Given the description of an element on the screen output the (x, y) to click on. 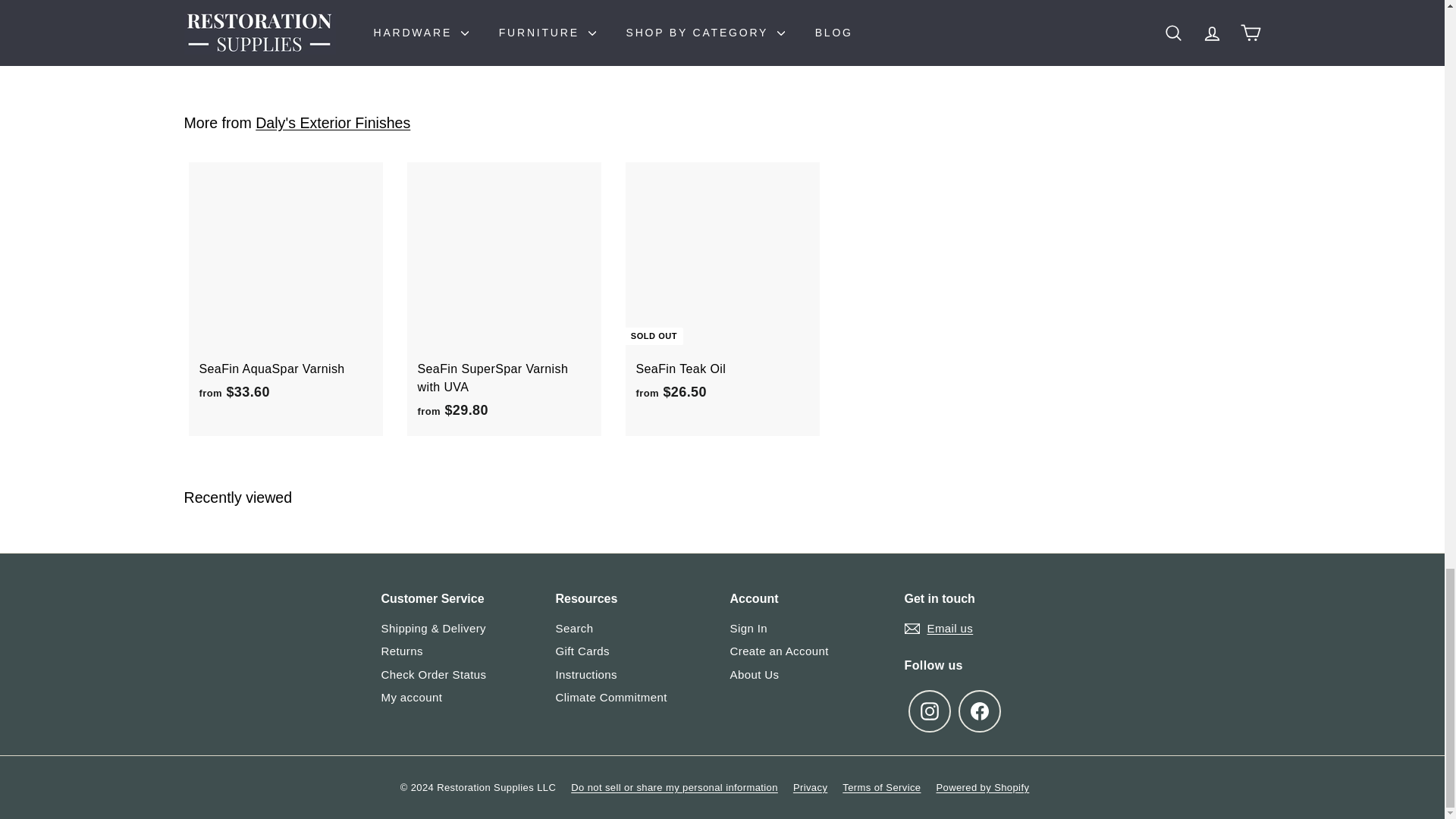
instagram (929, 710)
Restoration Supplies on Instagram (929, 711)
Restoration Supplies on Facebook (979, 711)
